Given the description of an element on the screen output the (x, y) to click on. 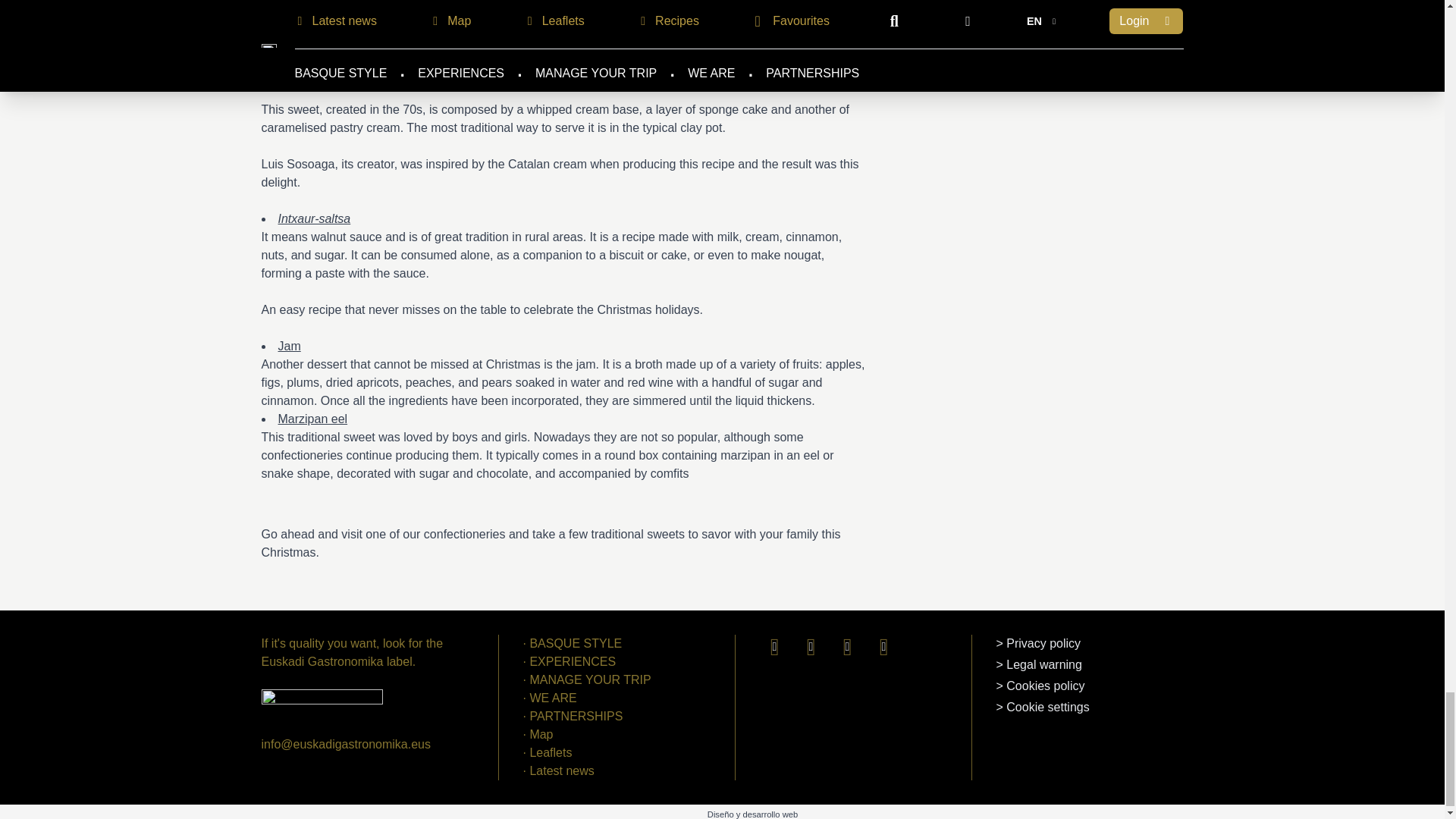
Go to www.presenciadigital.es (752, 814)
